Given the description of an element on the screen output the (x, y) to click on. 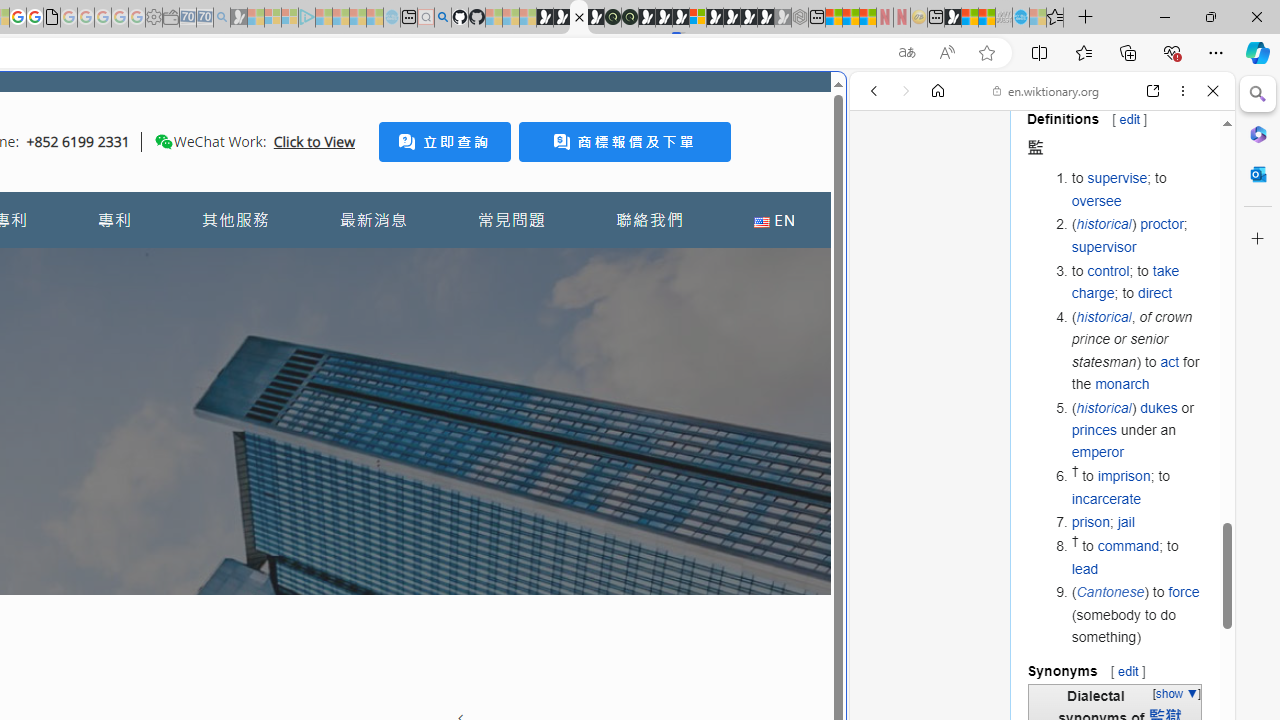
(historical) dukes or princes under an emperor (1137, 429)
emperor (1097, 452)
MSN (952, 17)
Search the web (1051, 137)
Play Cave FRVR in your browser | Games from Microsoft Start (663, 17)
(historical) proctor; supervisor (1137, 236)
